Given the description of an element on the screen output the (x, y) to click on. 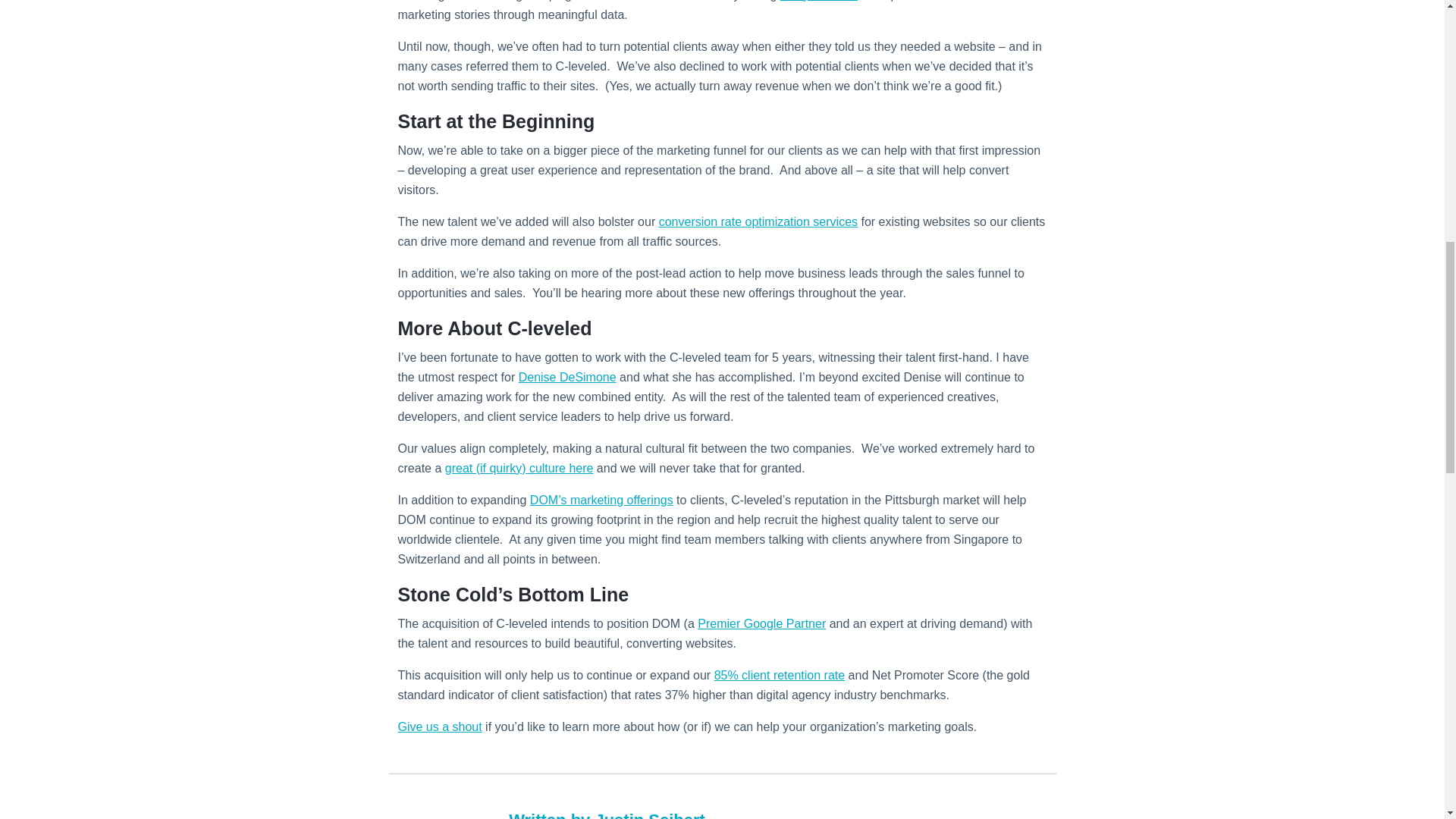
conversion rate optimization services (758, 221)
Give us a shout (439, 726)
Denise DeSimone (566, 377)
analytics team (818, 0)
Premier Google Partner (761, 623)
